Given the description of an element on the screen output the (x, y) to click on. 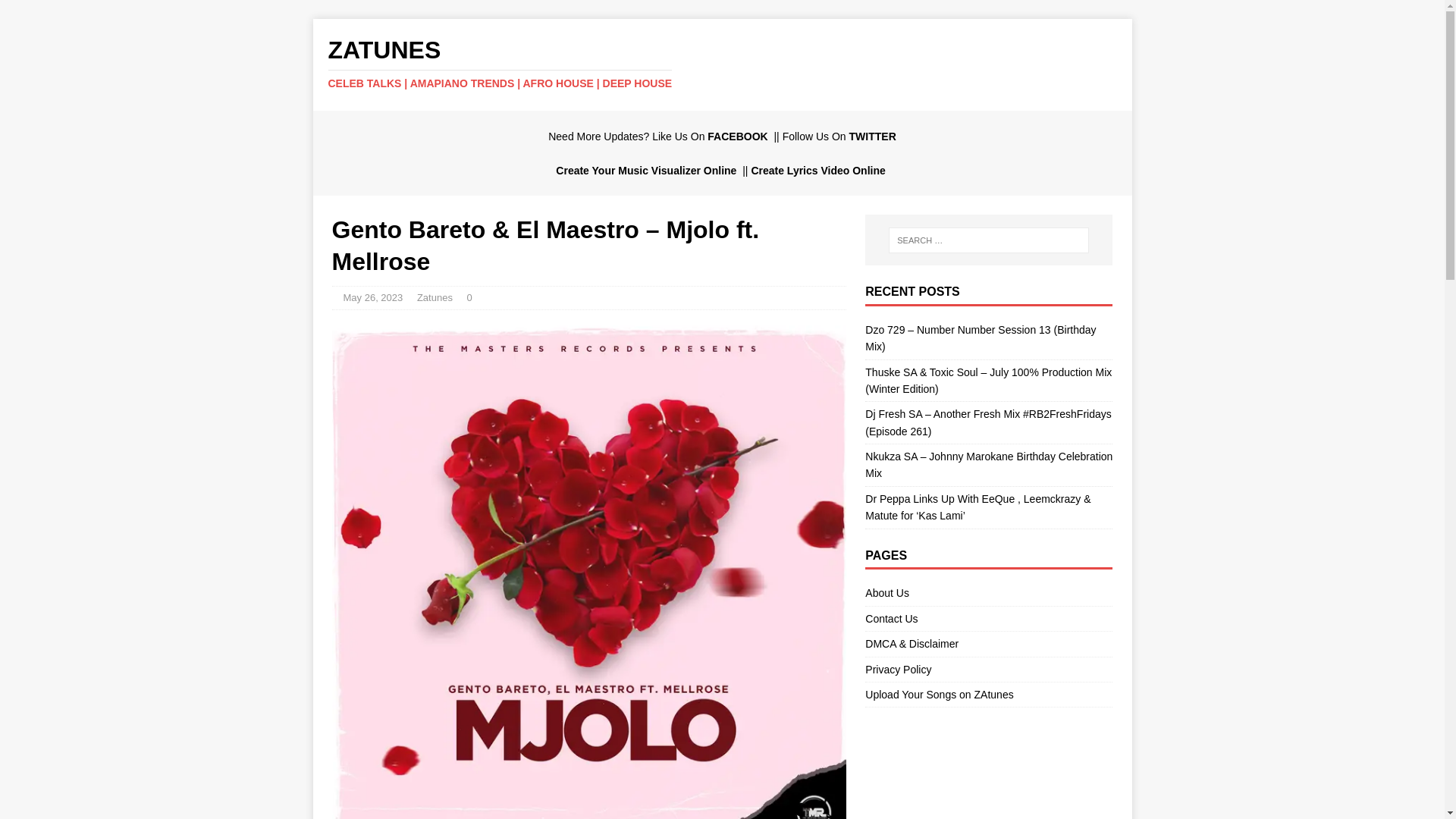
Follow Us On TWITTER (839, 136)
About Us (988, 595)
Create Lyrics Video Online  (819, 170)
Like Us On FACEBOOK  (711, 136)
0 (469, 297)
Contact Us (988, 618)
ZAtunes (721, 63)
Create Your Music Visualizer Online  (647, 170)
May 26, 2023 (372, 297)
0 (469, 297)
Search (56, 11)
Zatunes (434, 297)
